Given the description of an element on the screen output the (x, y) to click on. 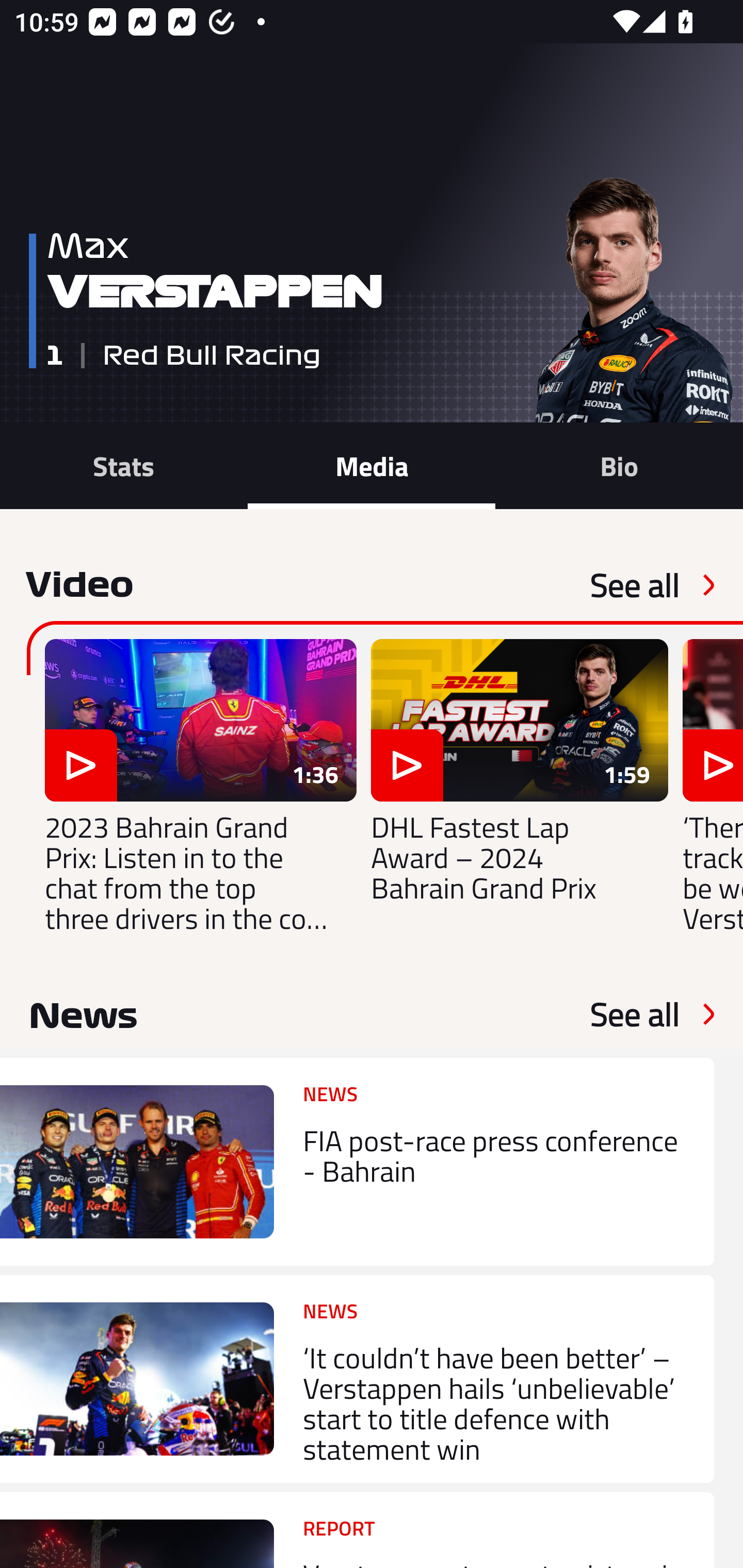
Stats (123, 465)
Bio (619, 465)
See all (634, 584)
See all (634, 1014)
